Given the description of an element on the screen output the (x, y) to click on. 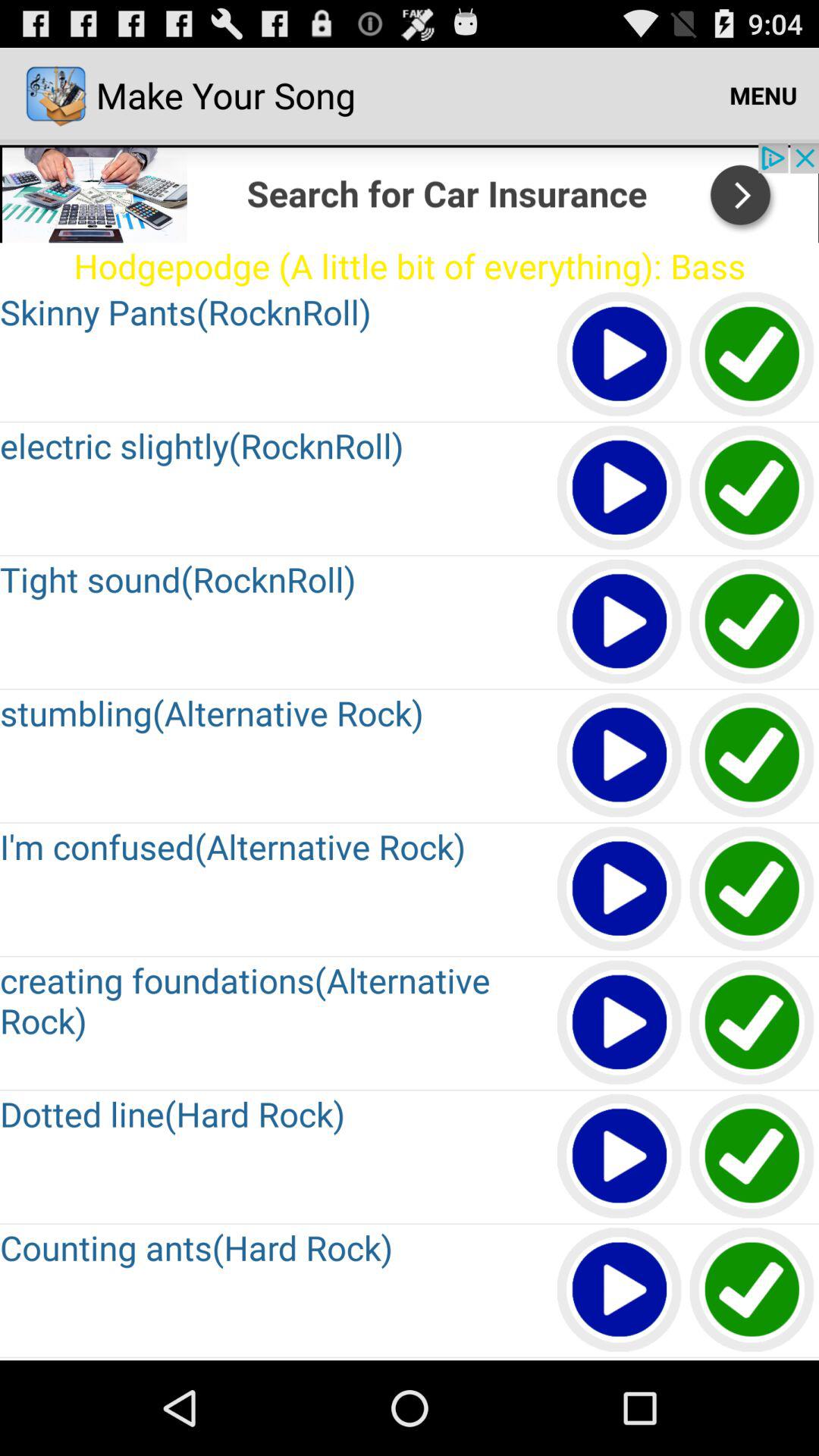
click on add (409, 192)
